Given the description of an element on the screen output the (x, y) to click on. 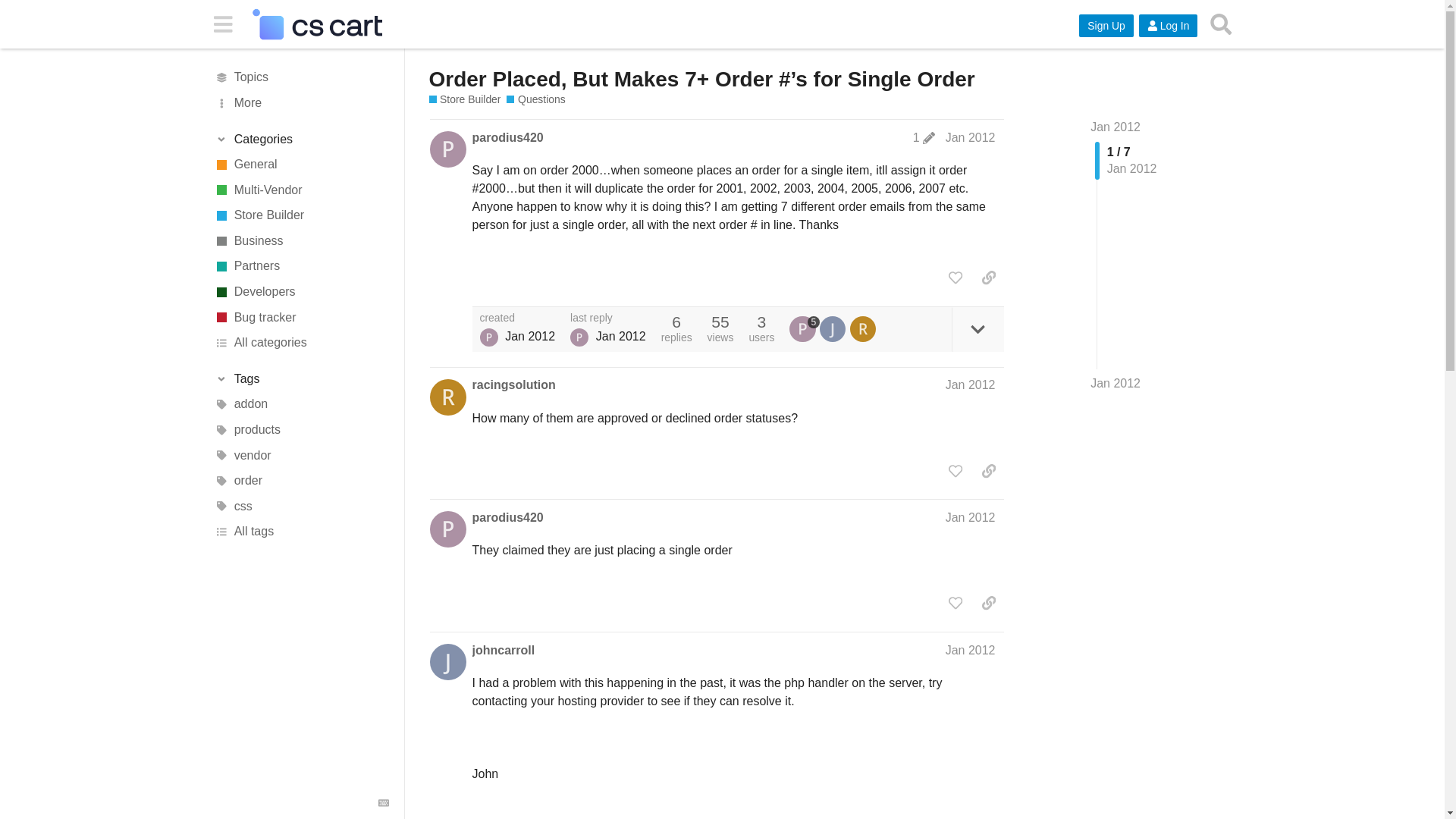
Partners (301, 266)
Bug tracker (301, 317)
Developers (301, 291)
Tags (301, 379)
Search (1220, 23)
vendor (301, 455)
All tags (301, 532)
Place to ask anything related to Multi-Vendor platform. (301, 190)
Topics (301, 77)
Toggle section (301, 139)
Business (301, 240)
products (301, 429)
Sign Up (1105, 25)
